Given the description of an element on the screen output the (x, y) to click on. 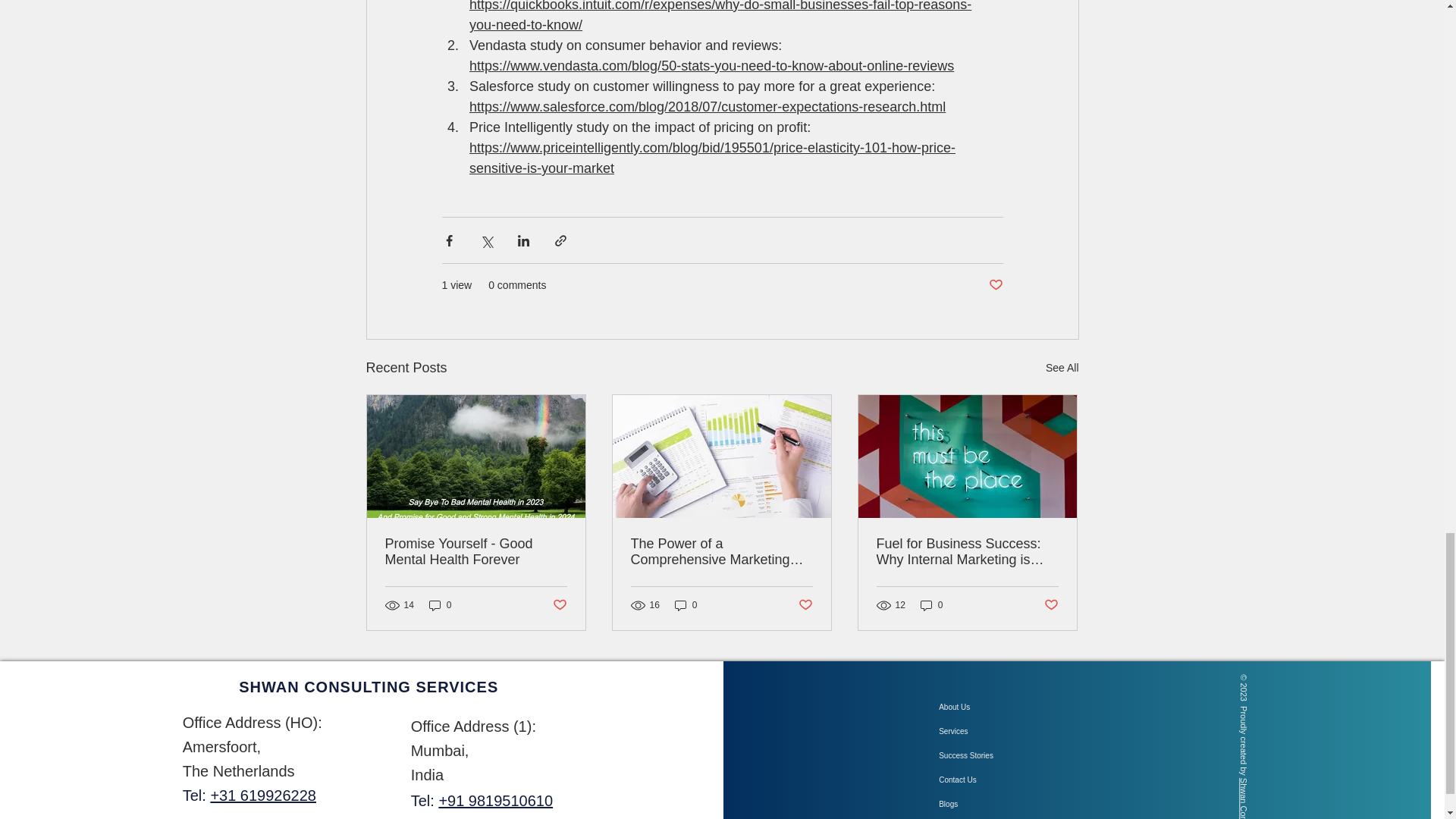
0 (440, 604)
Fuel for Business Success: Why Internal Marketing is Crucial (967, 552)
Post not marked as liked (995, 285)
Post not marked as liked (804, 605)
0 (931, 604)
Post not marked as liked (558, 605)
The Power of a Comprehensive Marketing Audit (721, 552)
See All (1061, 368)
SHWAN CONSULTING SERVICES (367, 686)
Promise Yourself - Good Mental Health Forever (476, 552)
